Given the description of an element on the screen output the (x, y) to click on. 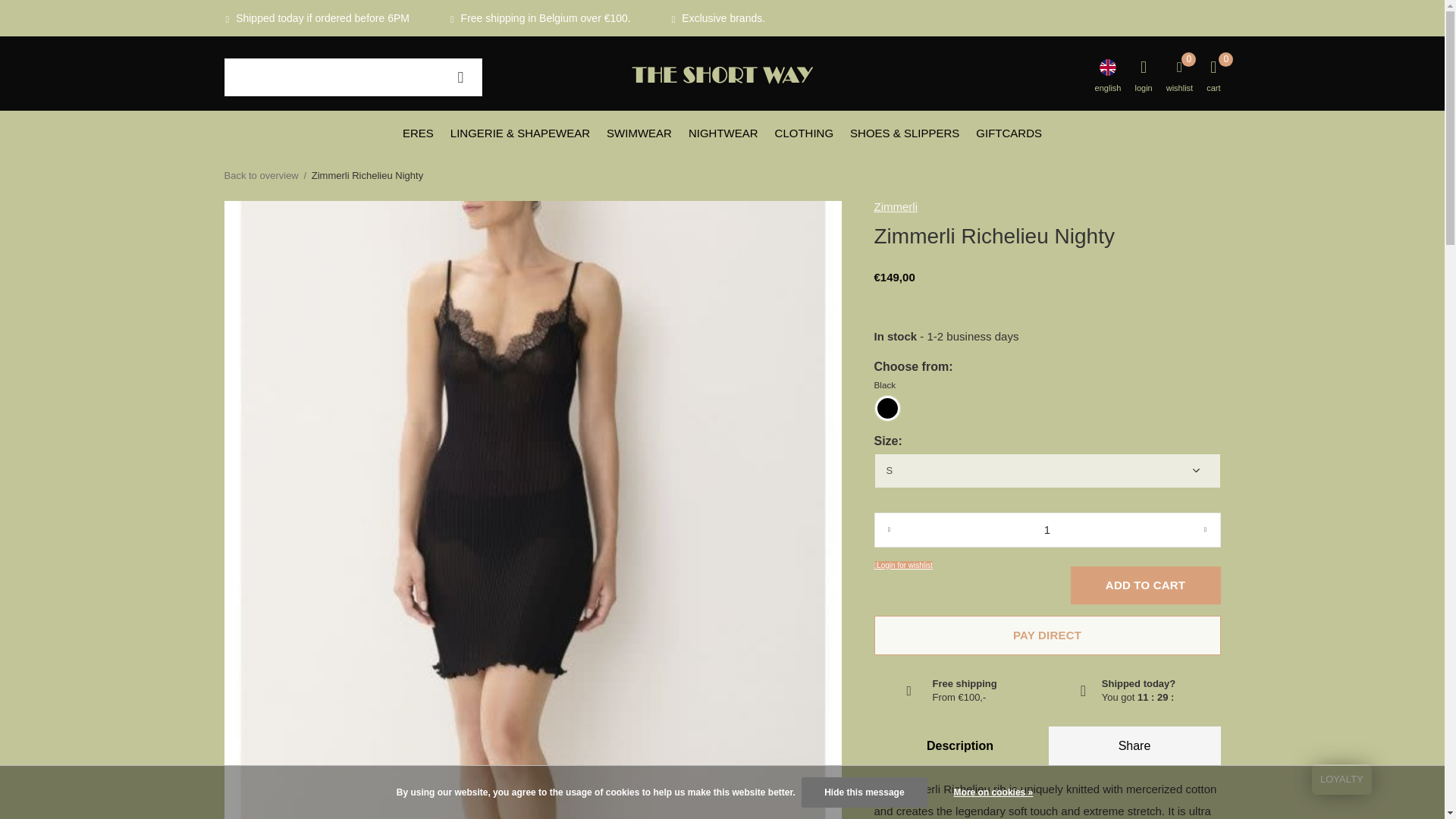
NIGHTWEAR (723, 132)
Hide this message (864, 792)
More on cookies (993, 792)
SWIMWEAR (639, 132)
1 (1046, 529)
ERES (418, 132)
